Given the description of an element on the screen output the (x, y) to click on. 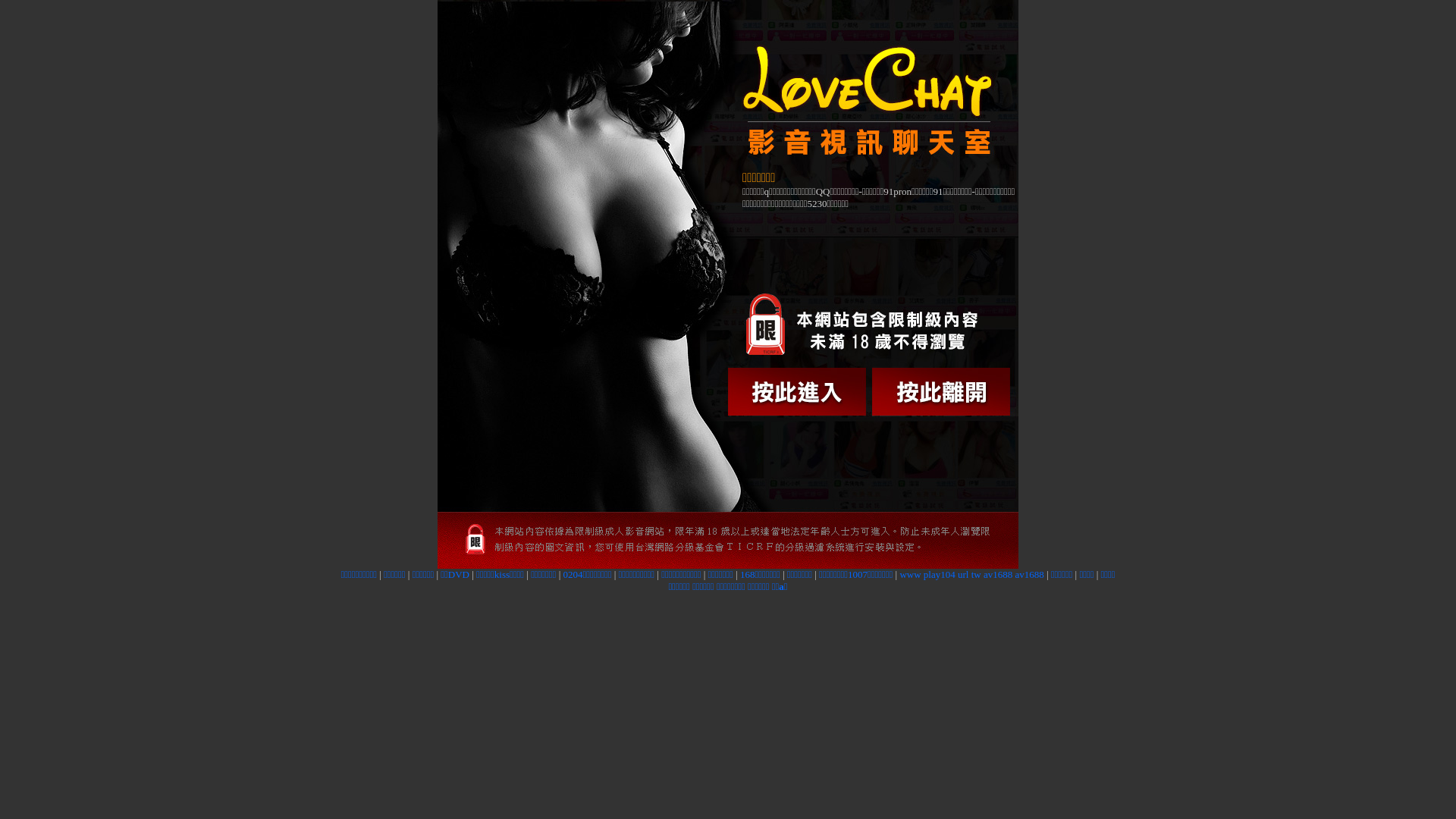
www play104 url tw av1688 av1688 Element type: text (971, 574)
